Given the description of an element on the screen output the (x, y) to click on. 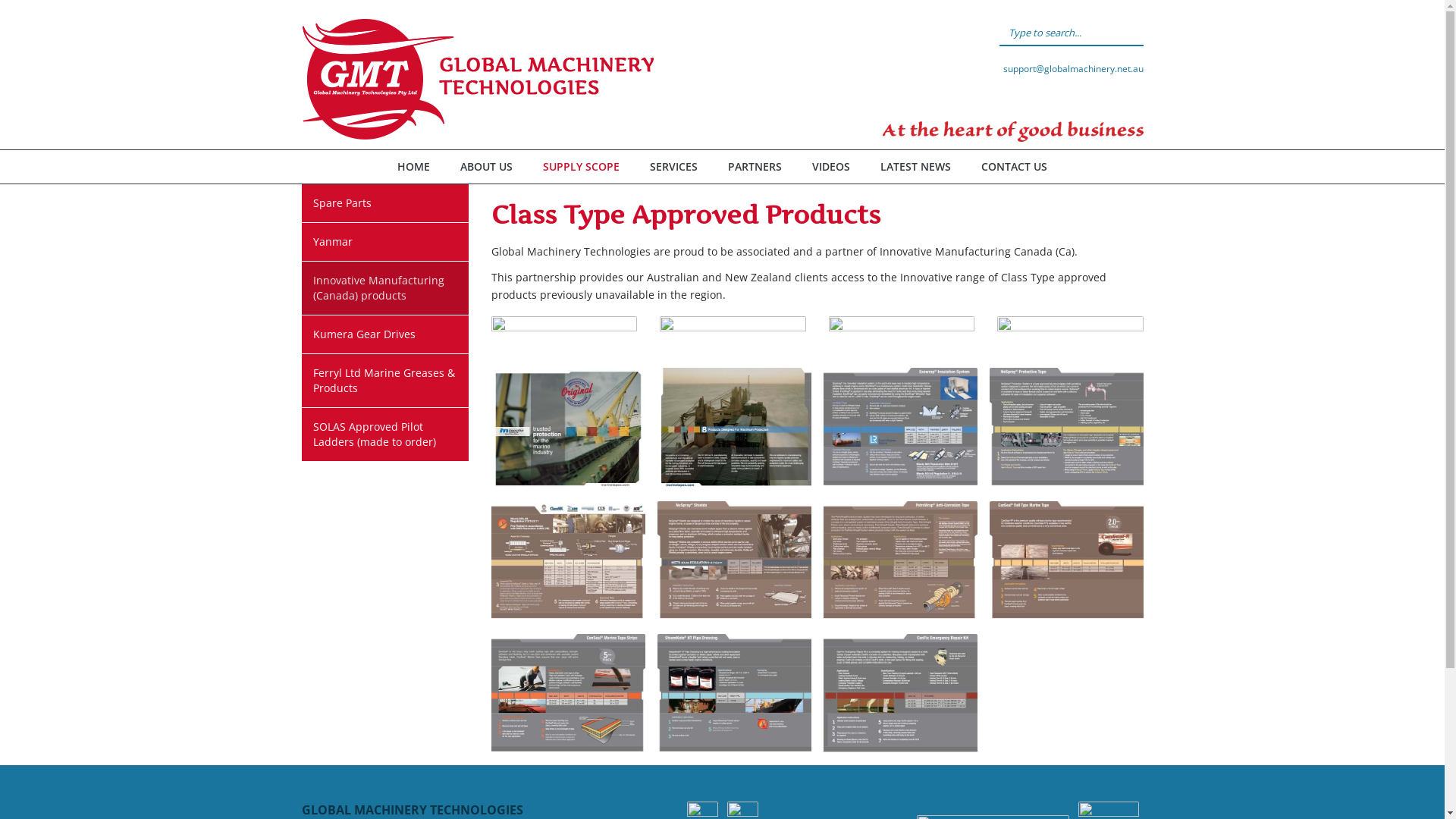
CONTACT US Element type: text (1014, 166)
Ferryl Ltd Marine Greases & Products Element type: text (384, 380)
support@globalmachinery.net.au Element type: text (1072, 68)
SOLAS Approved Pilot Ladders (made to order) Element type: text (384, 434)
Spare Parts Element type: text (384, 203)
SUPPLY SCOPE Element type: text (580, 166)
LATEST NEWS Element type: text (915, 166)
HOME Element type: text (413, 166)
VIDEOS Element type: text (831, 166)
PARTNERS Element type: text (754, 166)
Kumera Gear Drives Element type: text (384, 334)
ABOUT US Element type: text (486, 166)
Yanmar Element type: text (384, 241)
SERVICES Element type: text (673, 166)
Innovative Manufacturing (Canada) products Element type: text (384, 287)
